Given the description of an element on the screen output the (x, y) to click on. 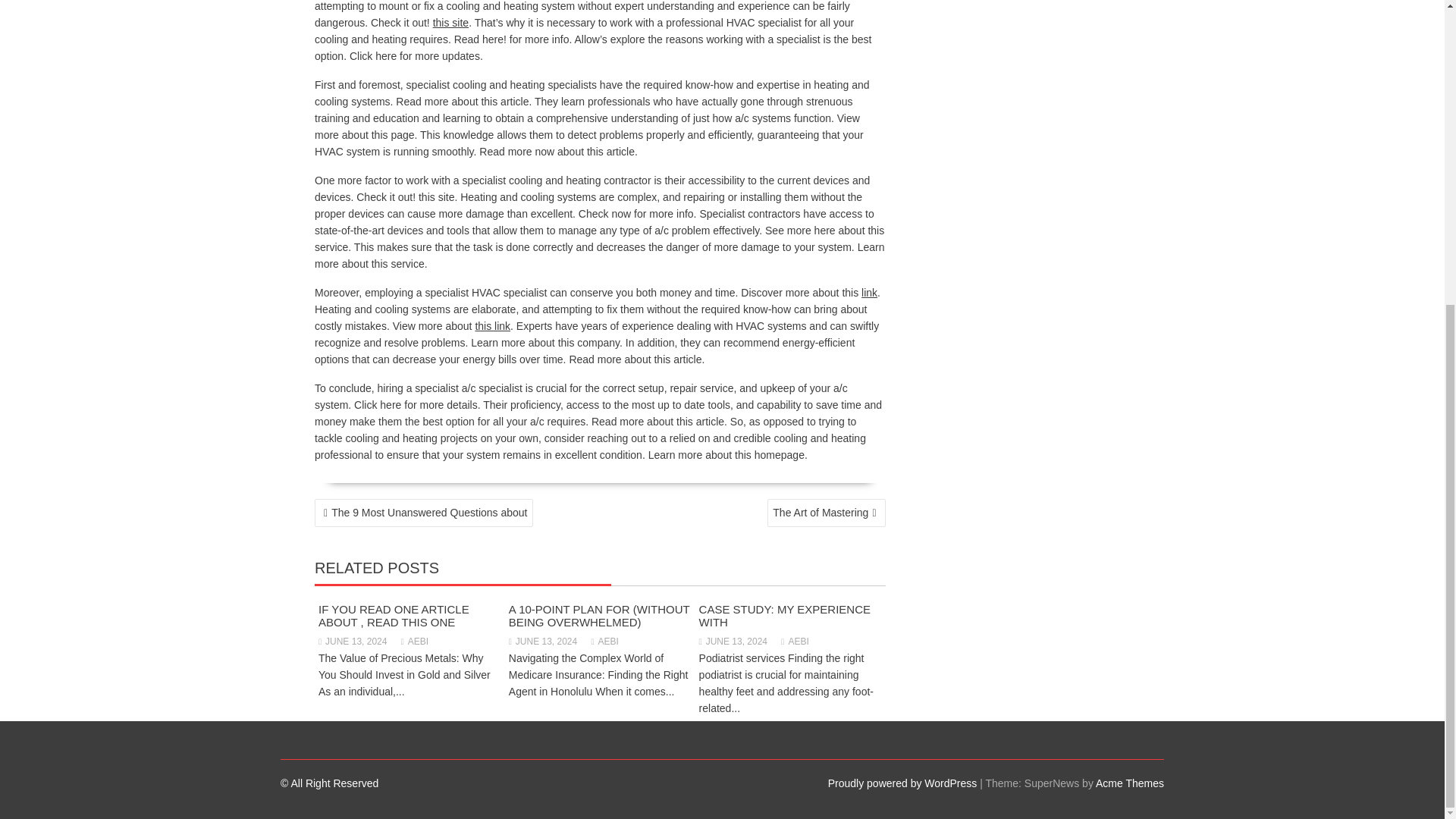
JUNE 13, 2024 (352, 641)
CASE STUDY: MY EXPERIENCE WITH (784, 615)
Acme Themes (1129, 783)
Proudly powered by WordPress (902, 783)
The 9 Most Unanswered Questions about (423, 512)
this site (450, 22)
JUNE 13, 2024 (732, 641)
AEBI (794, 641)
IF YOU READ ONE ARTICLE ABOUT , READ THIS ONE (393, 615)
AEBI (414, 641)
